Given the description of an element on the screen output the (x, y) to click on. 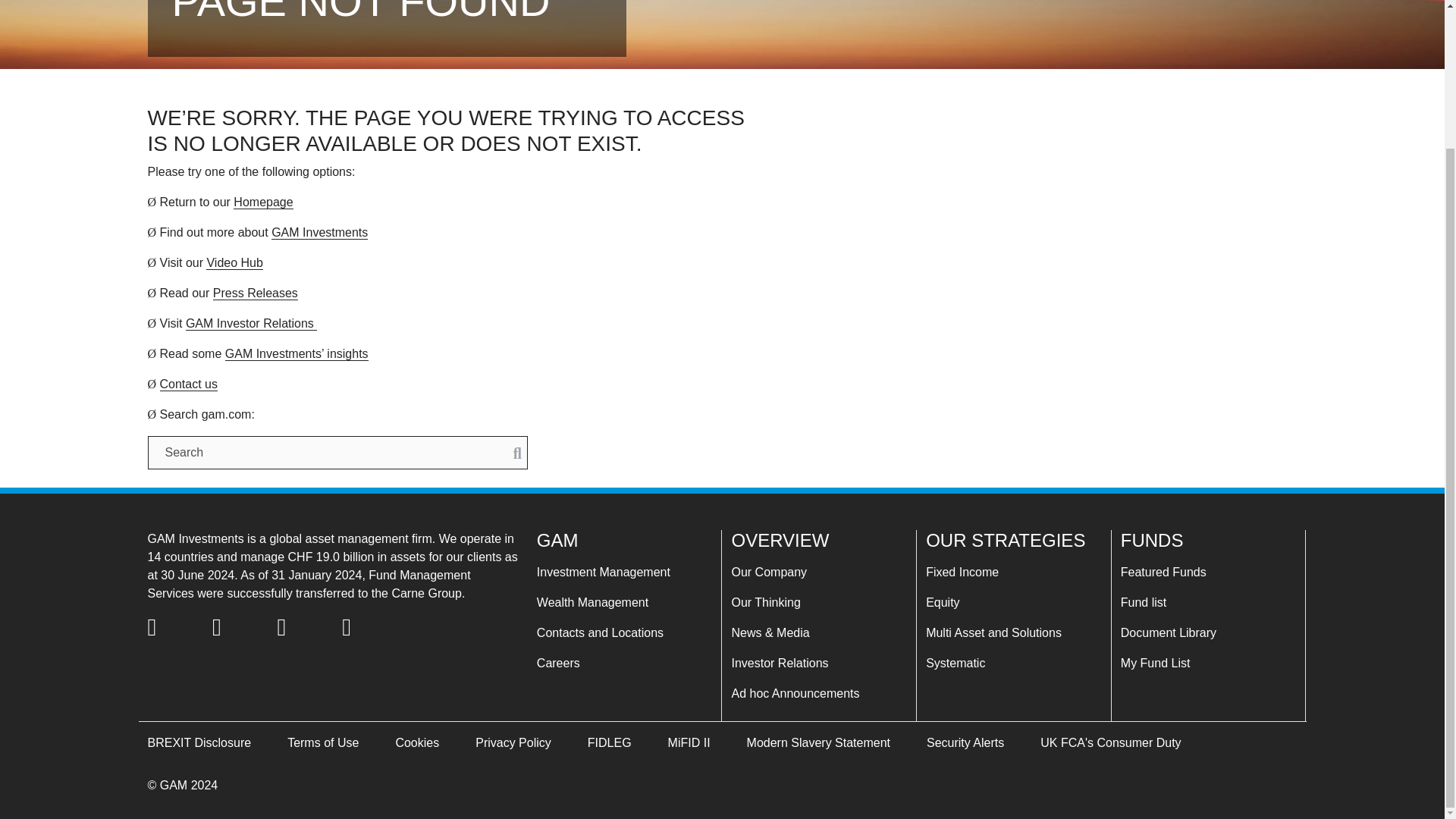
RSS (235, 627)
LinkedIn (300, 627)
Twitter (170, 627)
Youtube (365, 627)
